Given the description of an element on the screen output the (x, y) to click on. 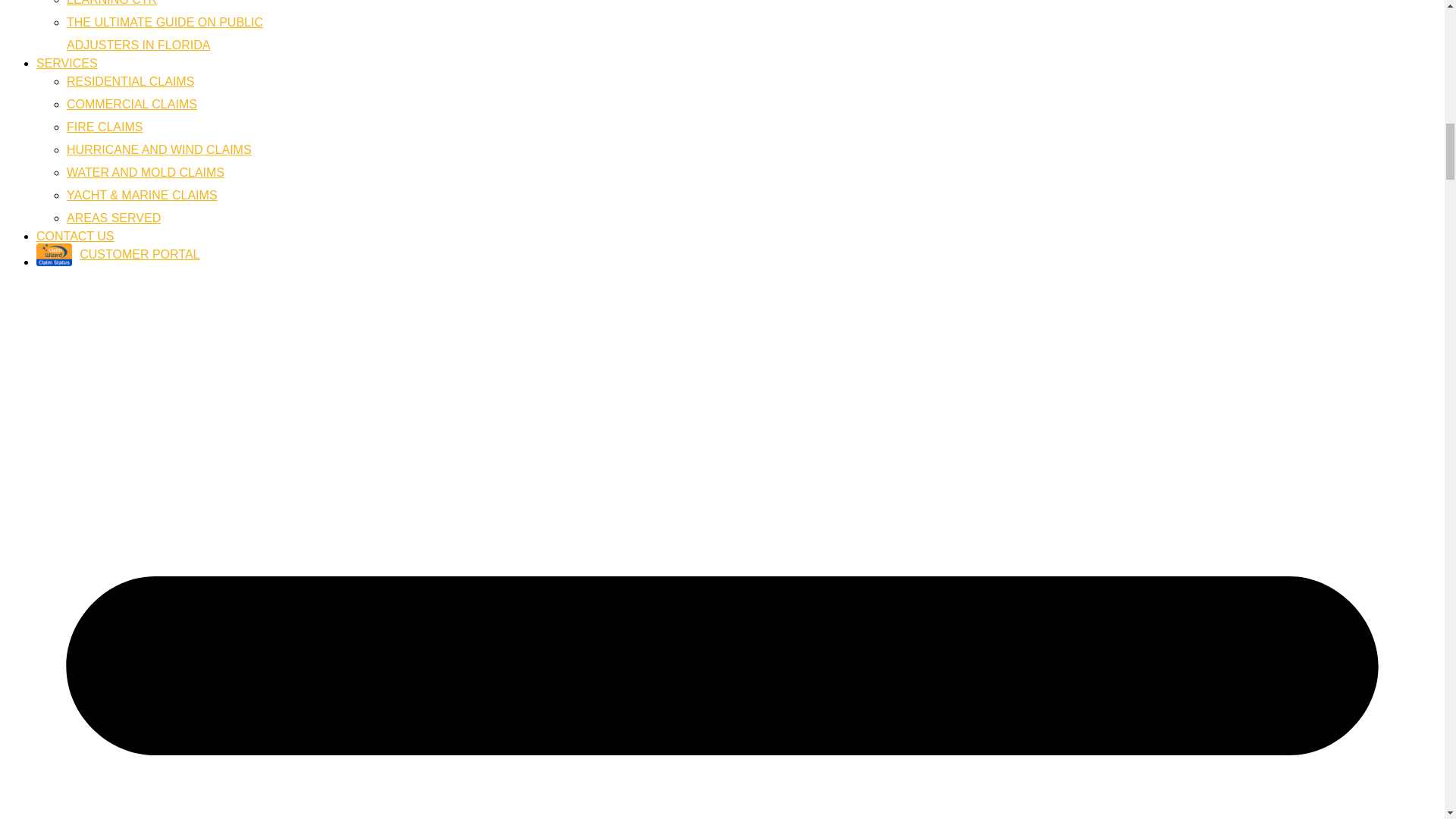
SERVICES (66, 62)
LEARNING CTR (111, 2)
FIRE CLAIMS (104, 126)
CONTACT US (75, 236)
WATER AND MOLD CLAIMS (164, 33)
HURRICANE AND WIND CLAIMS (145, 172)
COMMERCIAL CLAIMS (158, 149)
AREAS SERVED (131, 103)
RESIDENTIAL CLAIMS (113, 217)
